Given the description of an element on the screen output the (x, y) to click on. 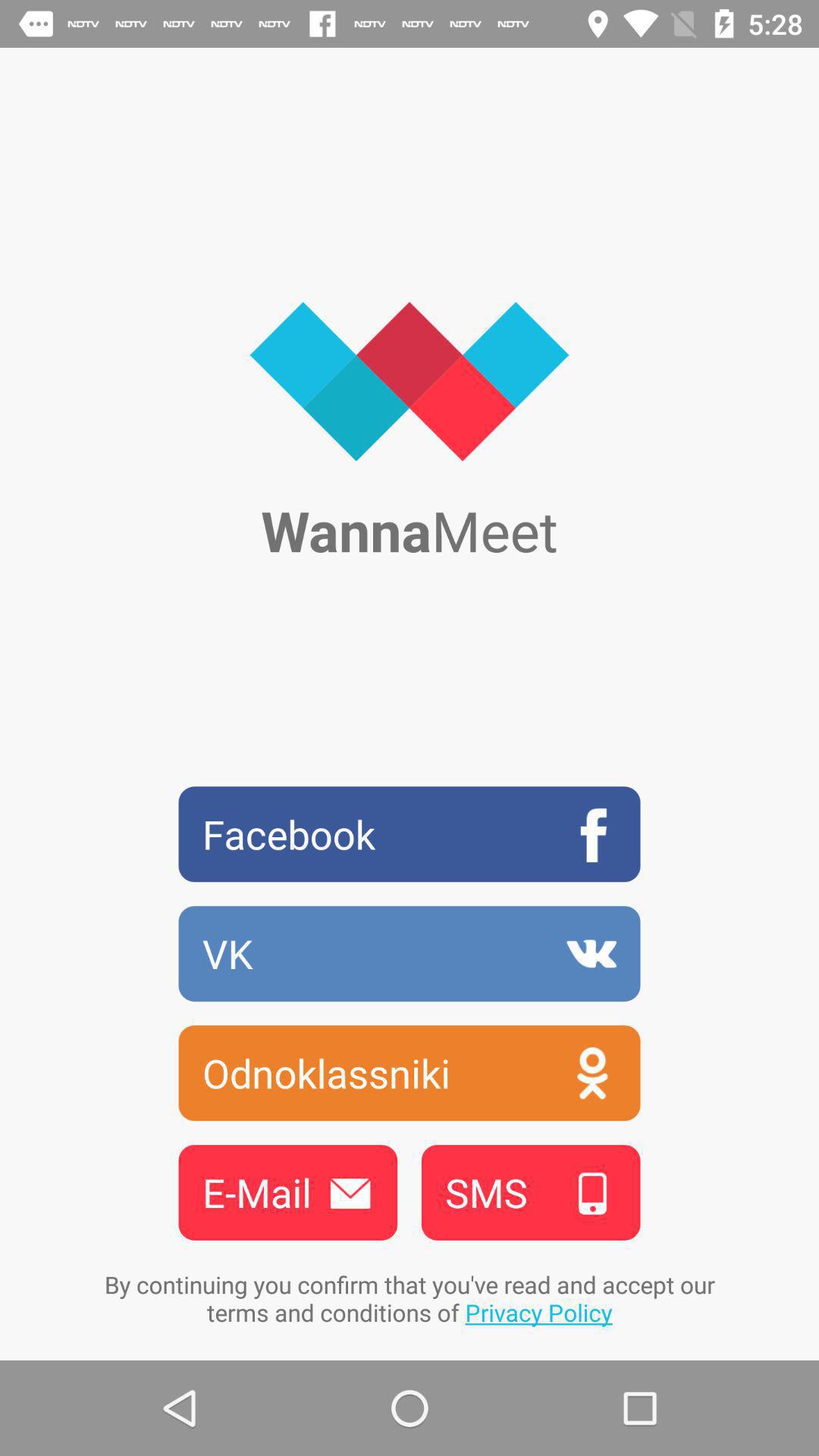
press vk item (409, 953)
